Given the description of an element on the screen output the (x, y) to click on. 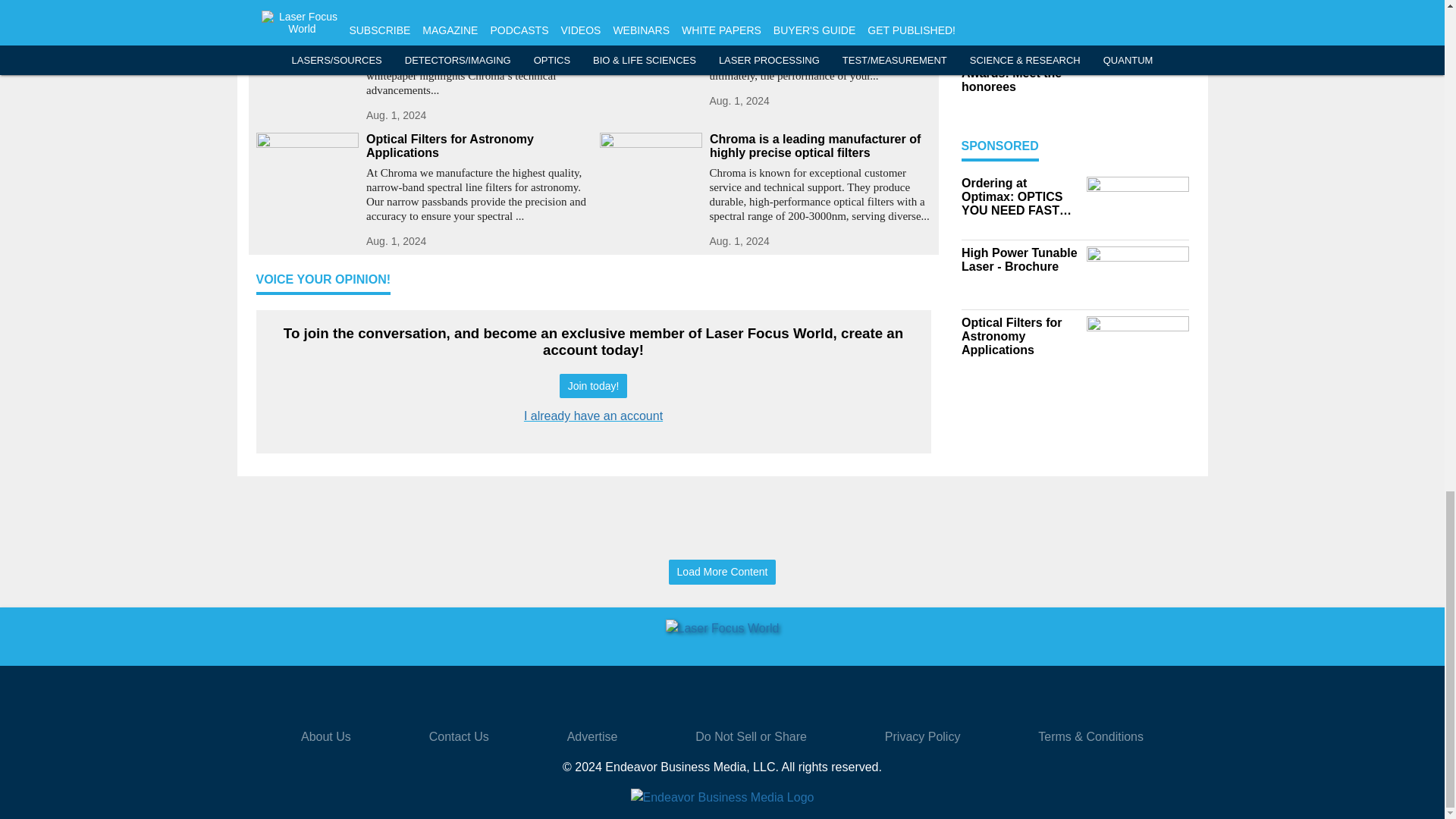
Optical Filters for Astronomy Applications (476, 145)
Optical Filters for Semiconductor Inspection (820, 9)
